Given the description of an element on the screen output the (x, y) to click on. 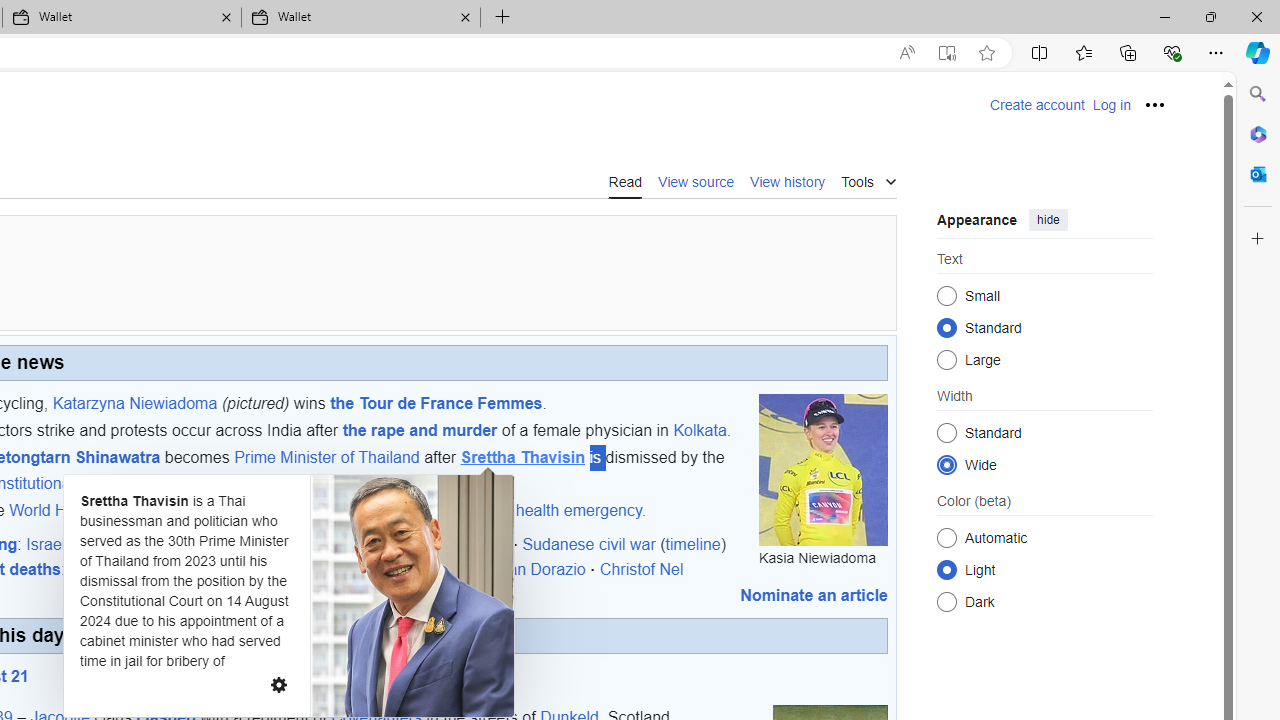
Katarzyna Niewiadoma (134, 402)
View source (695, 180)
Class: mw-list-item mw-list-item-js (1044, 569)
View source (695, 181)
(timeline) (693, 543)
Russian invasion of Ukraine (338, 543)
Kasia Niewiadoma (823, 469)
Light (946, 569)
hide (1048, 219)
Prime Minister of Thailand (326, 458)
